Given the description of an element on the screen output the (x, y) to click on. 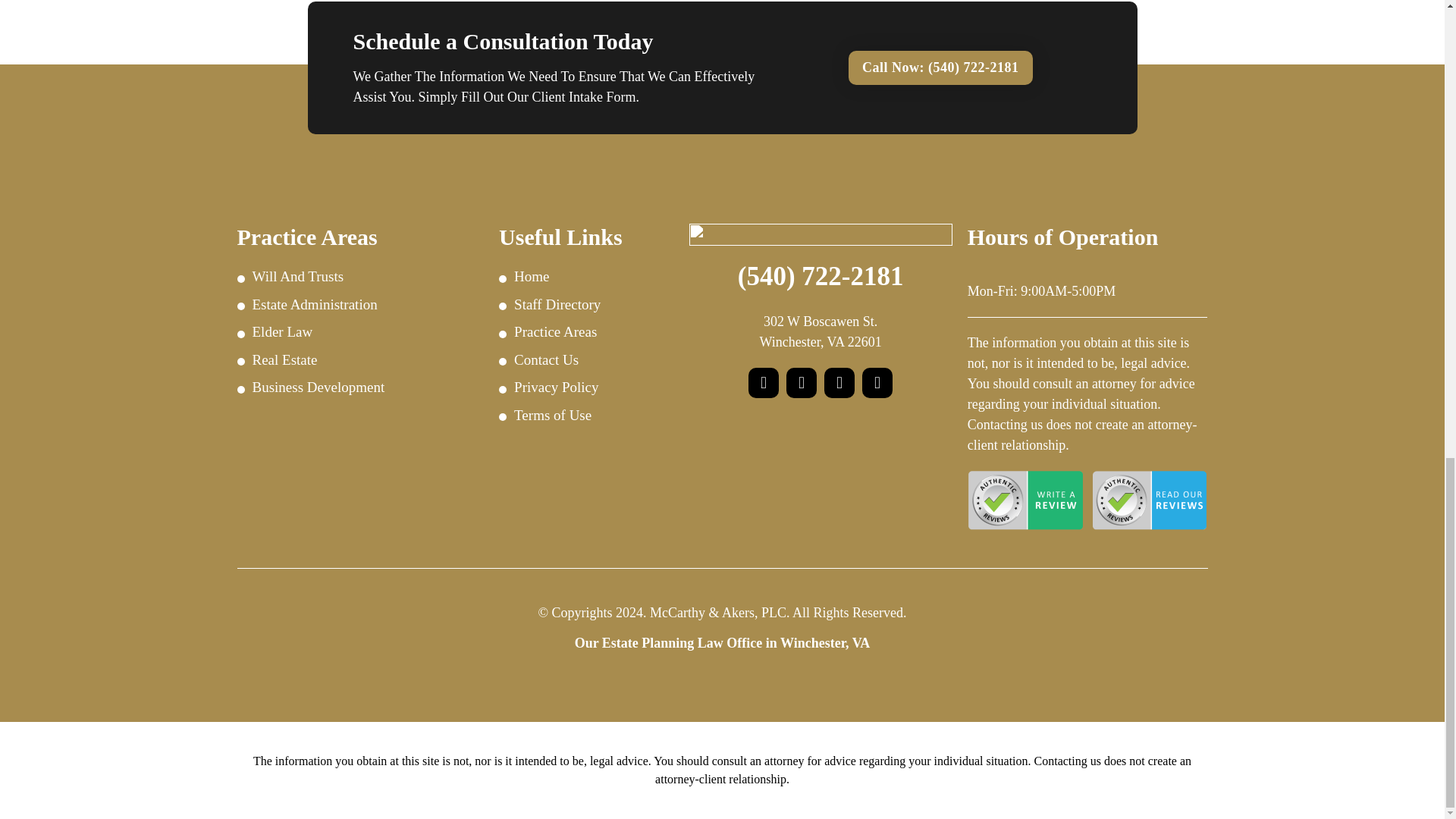
Estate Administration (363, 305)
Visit our googel profile (876, 382)
Back to Home (820, 234)
Visit our Facebook profile (763, 382)
Visit our LinkedIn profile (801, 382)
Will And Trusts (363, 277)
Primary Location (819, 331)
Elder Law (363, 332)
Real Estate (363, 359)
Visit our Instagram profile (839, 382)
Contact Us (940, 67)
